Given the description of an element on the screen output the (x, y) to click on. 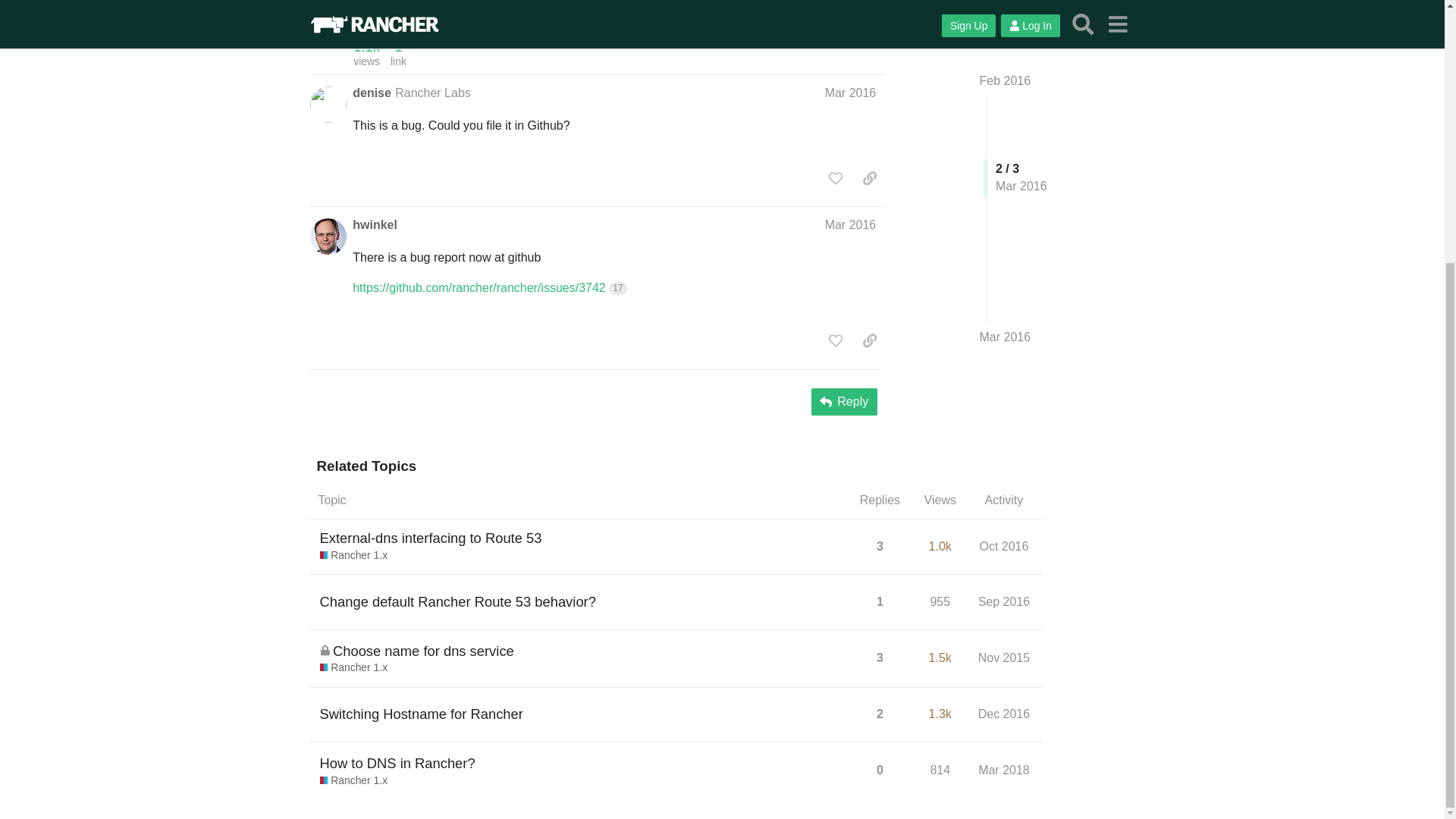
Mar 2016 (1004, 6)
copy a link to this post to clipboard (869, 7)
Oct 2016 (1003, 546)
External-dns interfacing to Route 53 (430, 537)
Mar 2016 (850, 91)
Mar 2016 (850, 224)
denise (371, 92)
hwinkel (374, 225)
Post date (850, 91)
copy a link to this post to clipboard (869, 177)
